Given the description of an element on the screen output the (x, y) to click on. 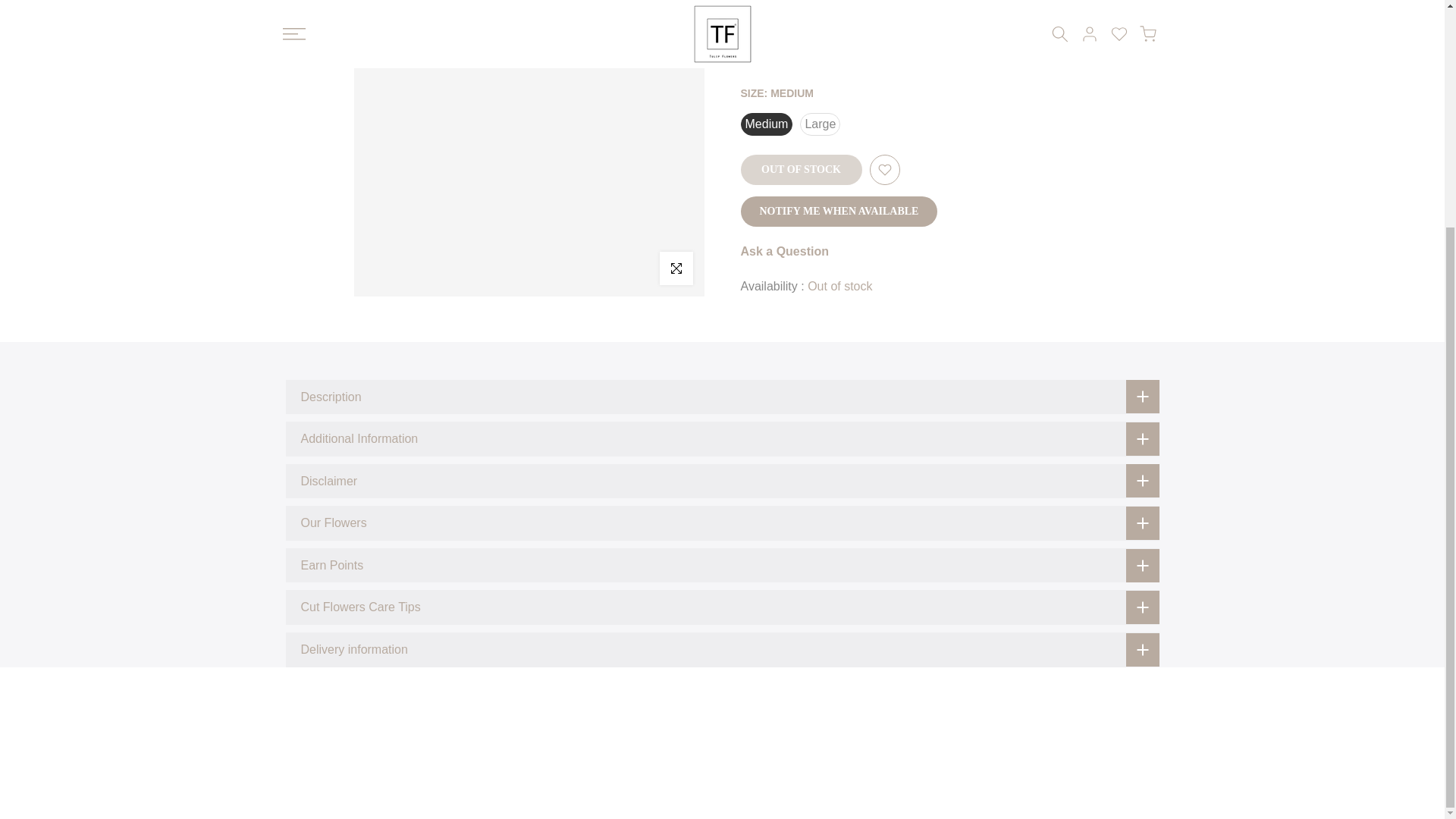
Description (721, 396)
Our Flowers (721, 523)
OUT OF STOCK (800, 4)
Follow on Facebook (844, 204)
Delivery information (721, 649)
Delivery Policy (349, 316)
Additional Information (721, 438)
TF Careers (348, 341)
Follow on Tiktok (949, 204)
Cut Flowers Care Tips (721, 606)
NOTIFY ME WHEN AVAILABLE (838, 36)
Follow on Pinterest (896, 204)
Ask a Question (783, 75)
Terms of Service (348, 292)
Contact US (348, 218)
